Given the description of an element on the screen output the (x, y) to click on. 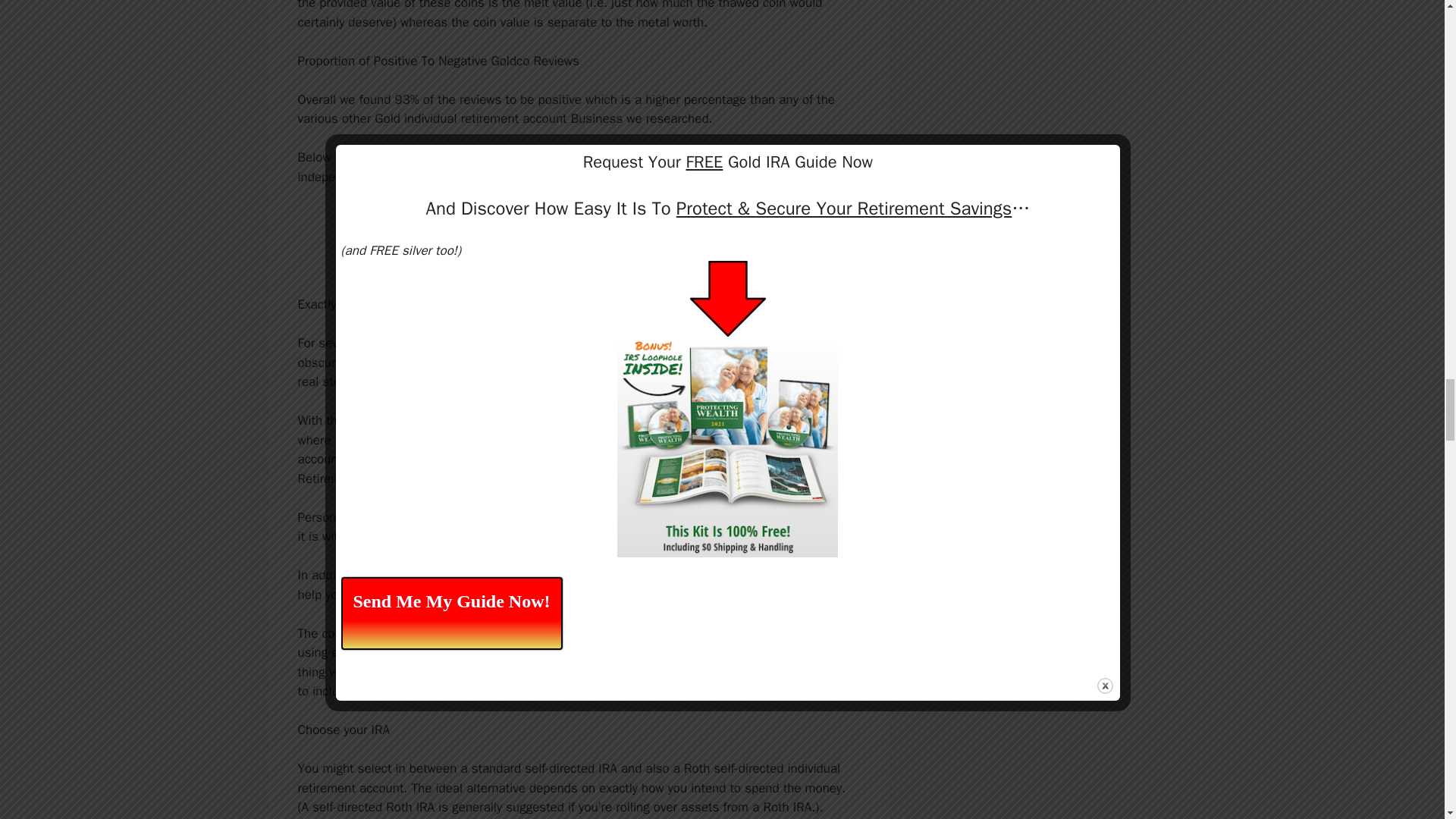
GET Goldco's FREE GUIDE (577, 241)
